Given the description of an element on the screen output the (x, y) to click on. 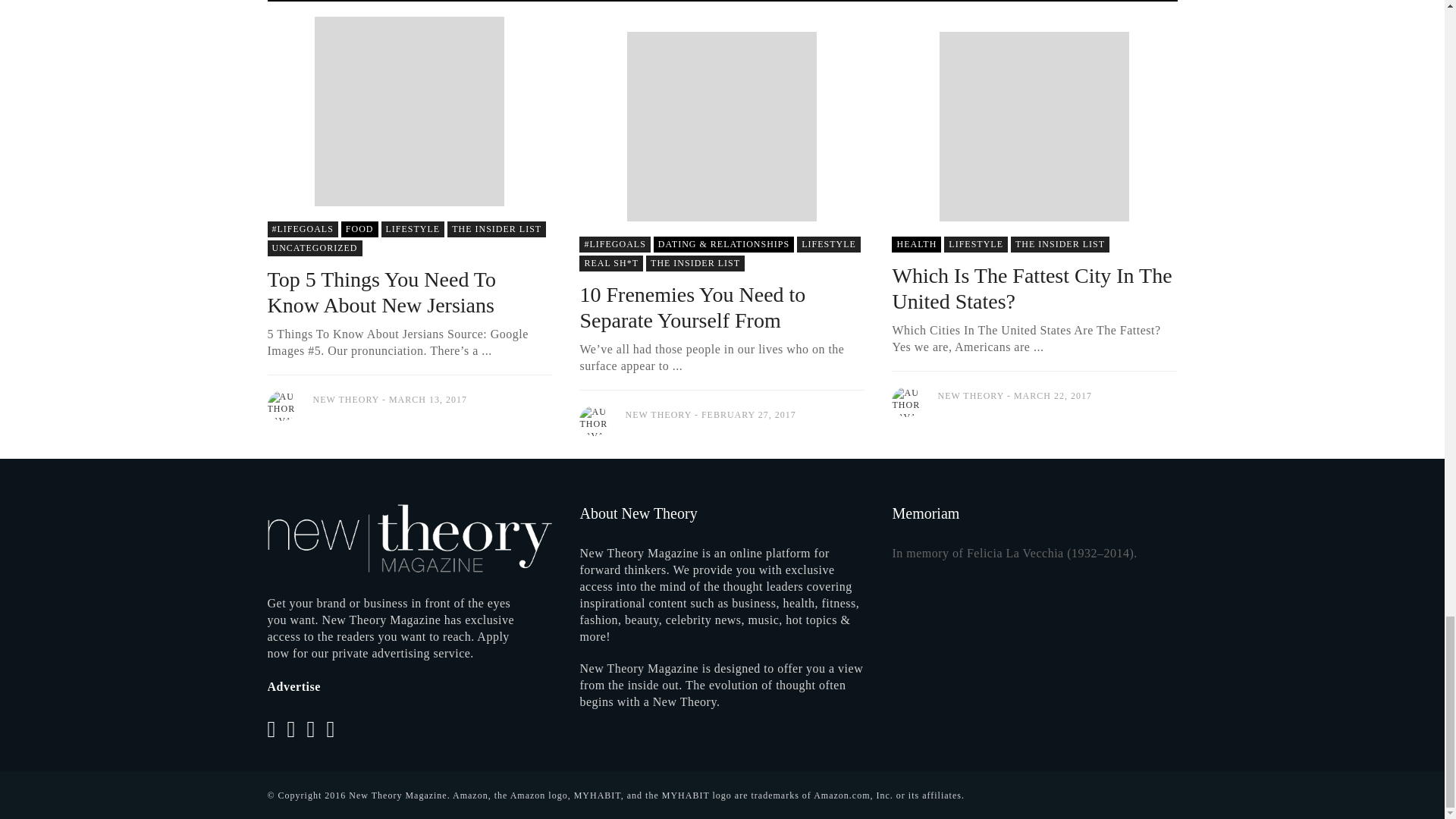
View all posts in 1 (313, 248)
View all posts in 3385 (828, 244)
View all posts in 187 (723, 244)
View all posts in 3034 (496, 229)
View all posts in 936 (611, 263)
View all posts in 3040 (359, 229)
View all posts in 143 (301, 229)
View all posts in 143 (614, 244)
View all posts in 3385 (413, 229)
